Given the description of an element on the screen output the (x, y) to click on. 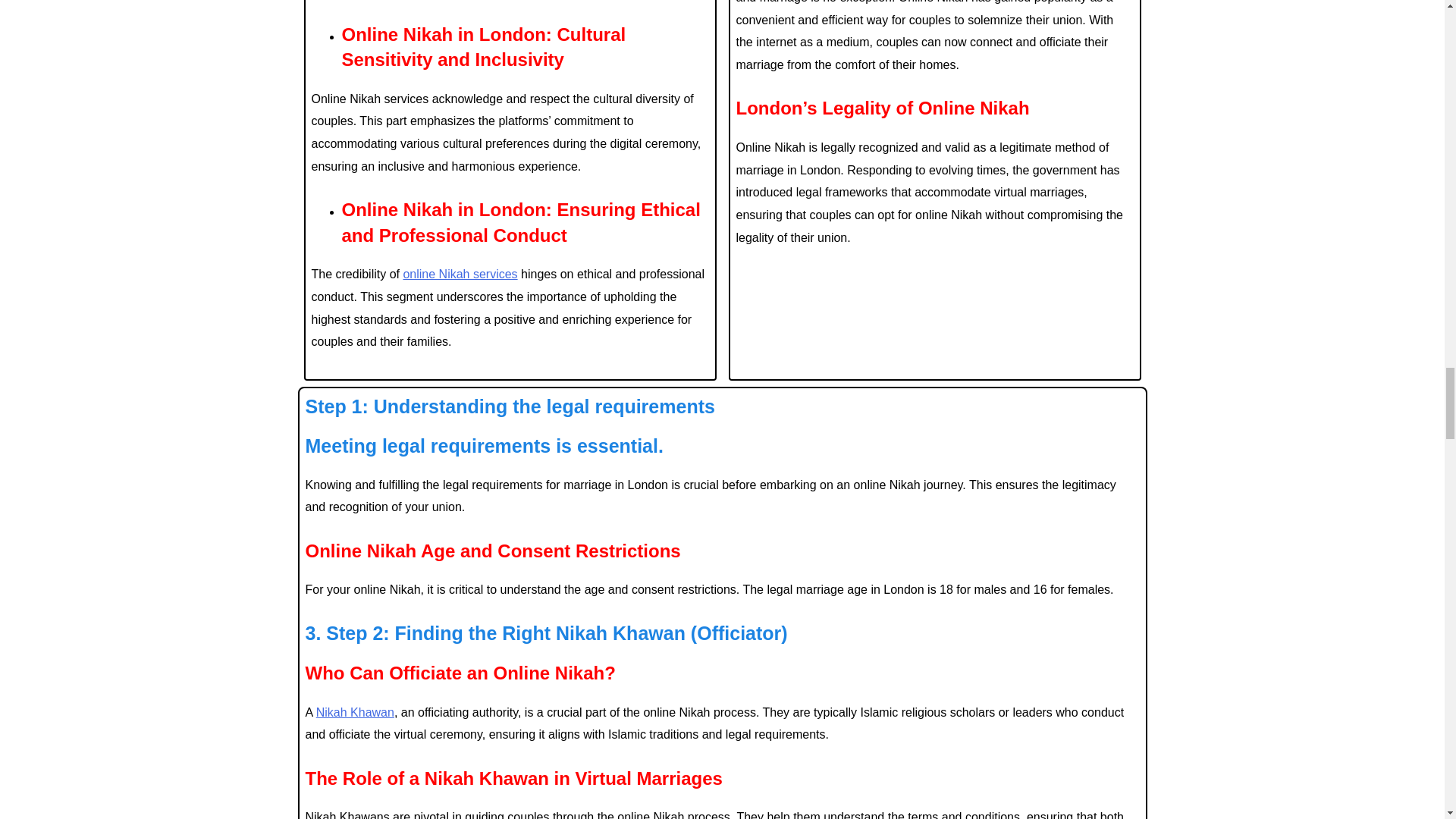
online Nikah services (459, 273)
